Given the description of an element on the screen output the (x, y) to click on. 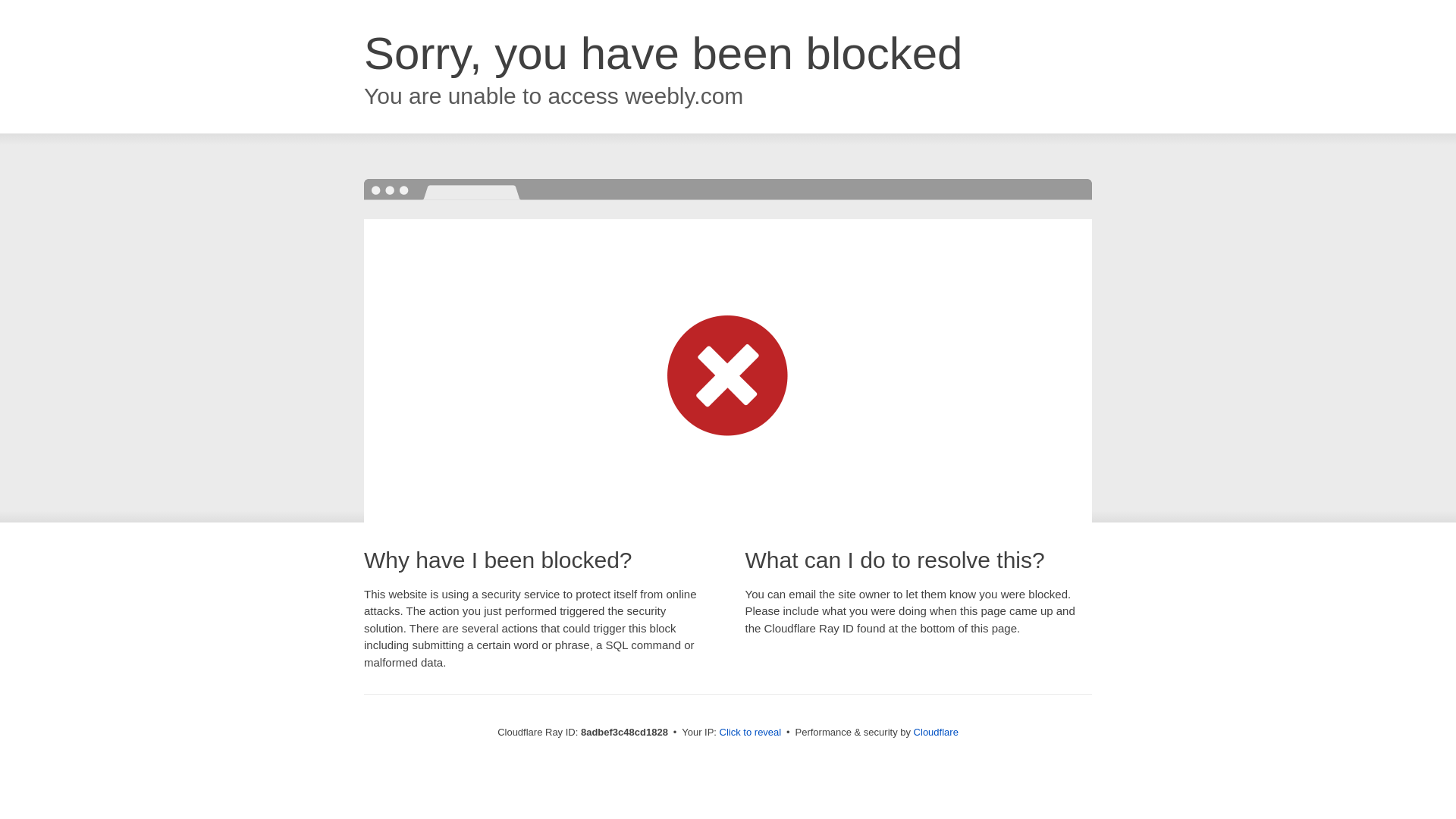
Click to reveal (750, 732)
Cloudflare (936, 731)
